Given the description of an element on the screen output the (x, y) to click on. 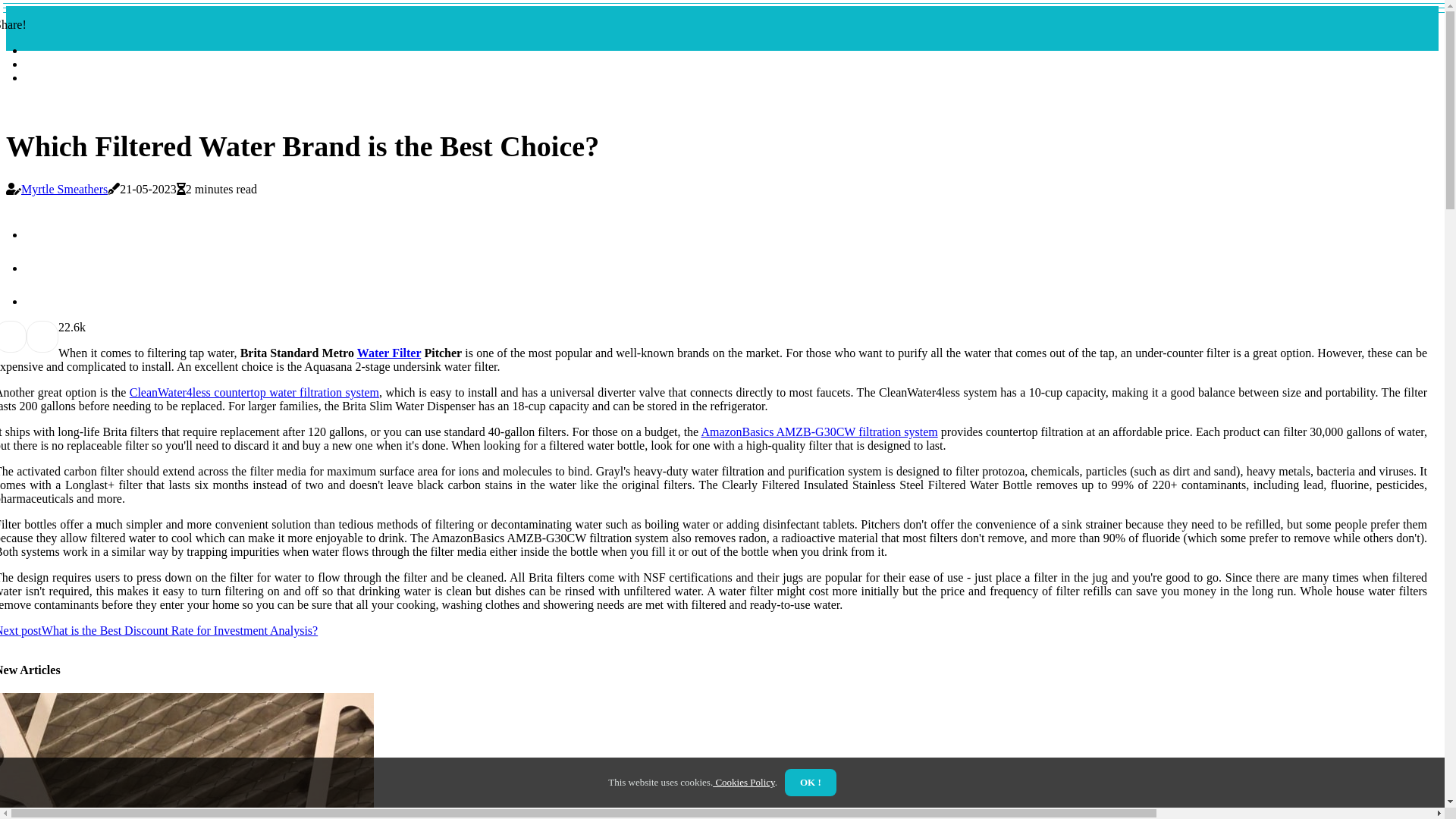
2 Element type: text (61, 326)
Cookies Policy Element type: text (743, 781)
AmazonBasics AMZB-G30CW filtration system Element type: text (818, 431)
Water Filter Element type: text (388, 352)
Myrtle Smeathers Element type: text (64, 188)
CleanWater4less countertop water filtration system Element type: text (254, 391)
